Given the description of an element on the screen output the (x, y) to click on. 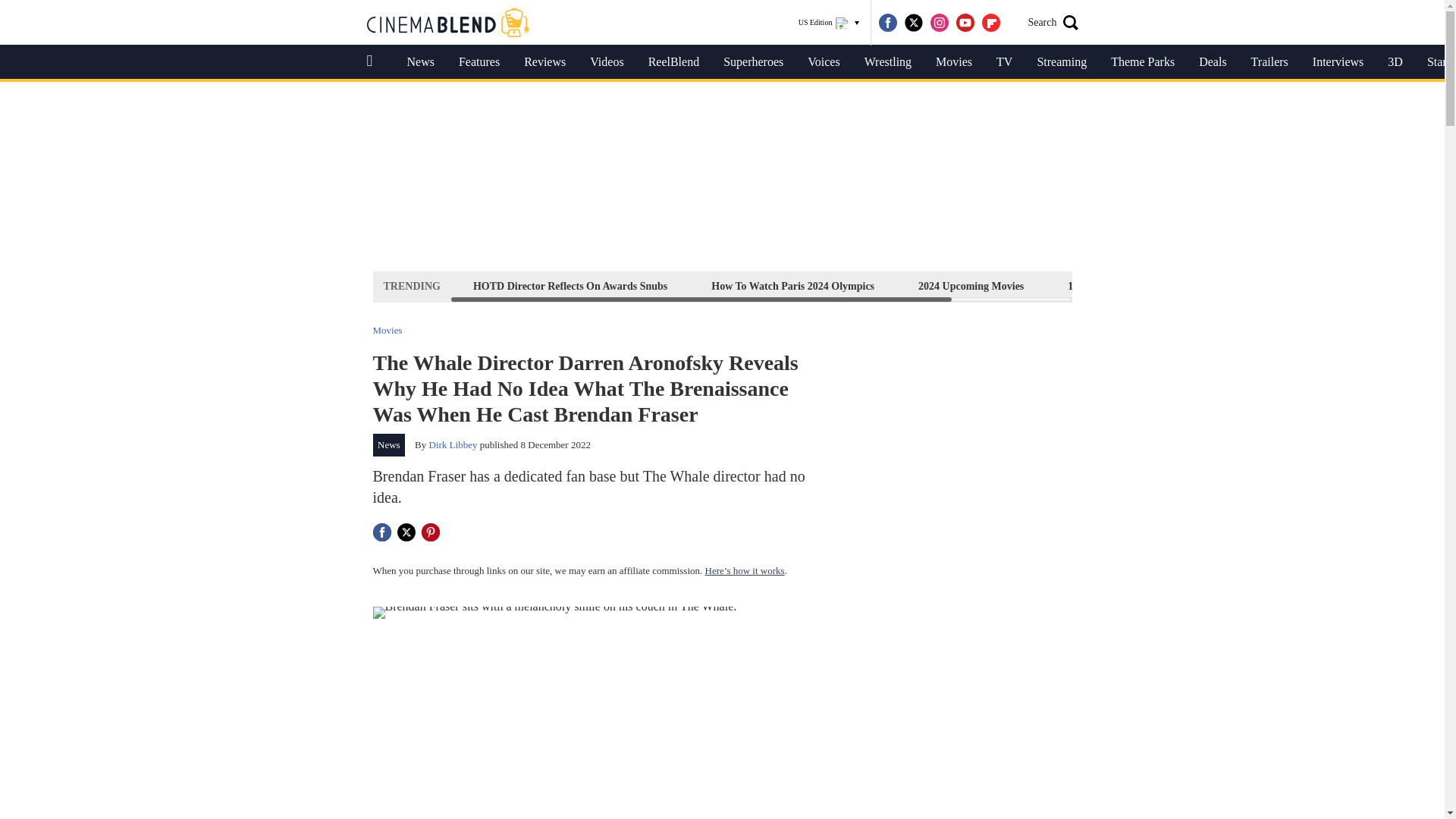
Streaming (1062, 61)
TV (1004, 61)
2024 Upcoming Movies (970, 286)
Features (479, 61)
Deals (1212, 61)
How To Watch Paris 2024 Olympics (792, 286)
ReelBlend (673, 61)
100 Best Sitcoms Of All Time (1133, 286)
HOTD Director Reflects On Awards Snubs (569, 286)
Interviews (1337, 61)
News (419, 61)
Reviews (545, 61)
Superheroes (752, 61)
Voices (822, 61)
News (389, 445)
